Given the description of an element on the screen output the (x, y) to click on. 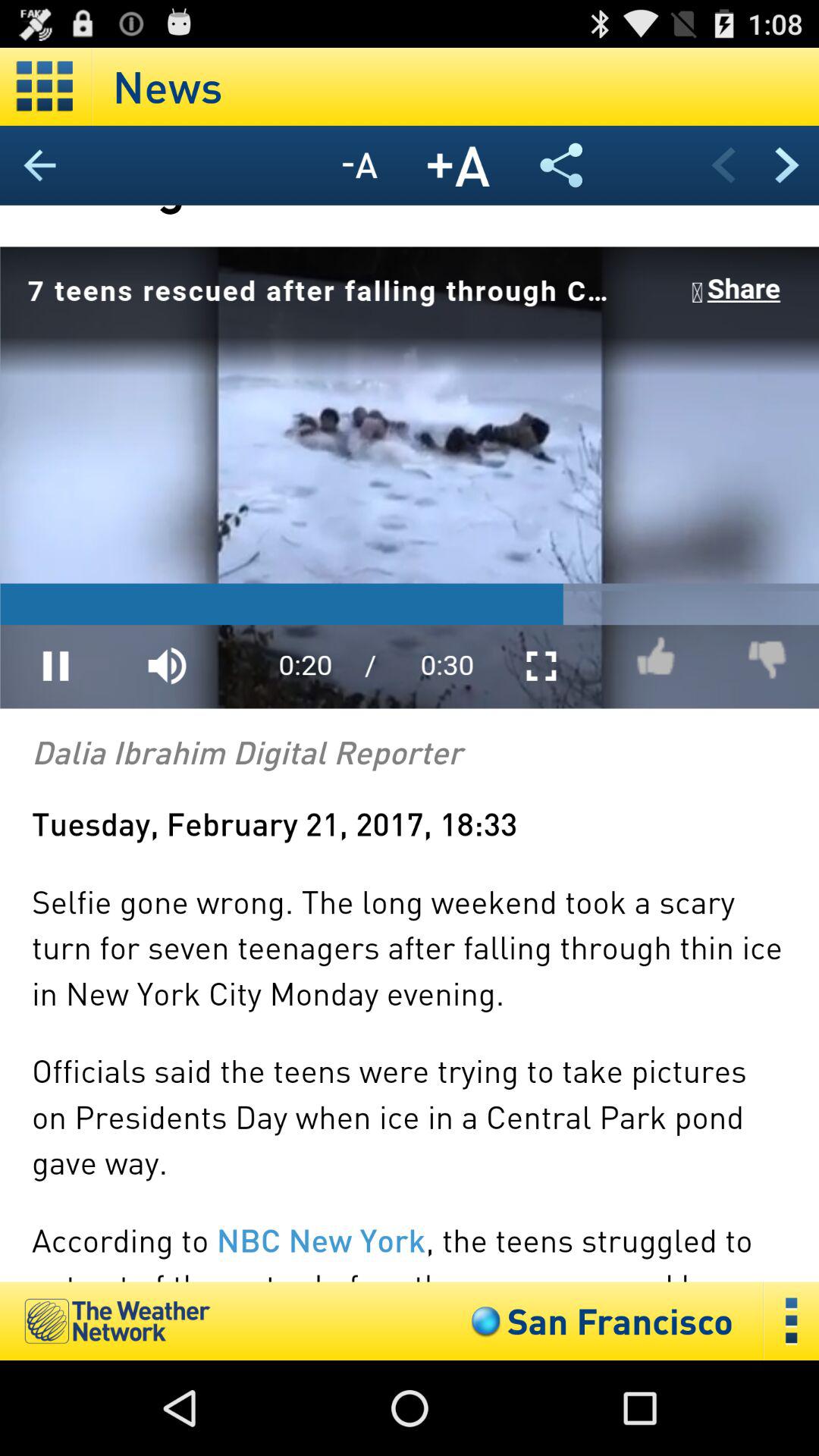
go to previous (787, 165)
